Given the description of an element on the screen output the (x, y) to click on. 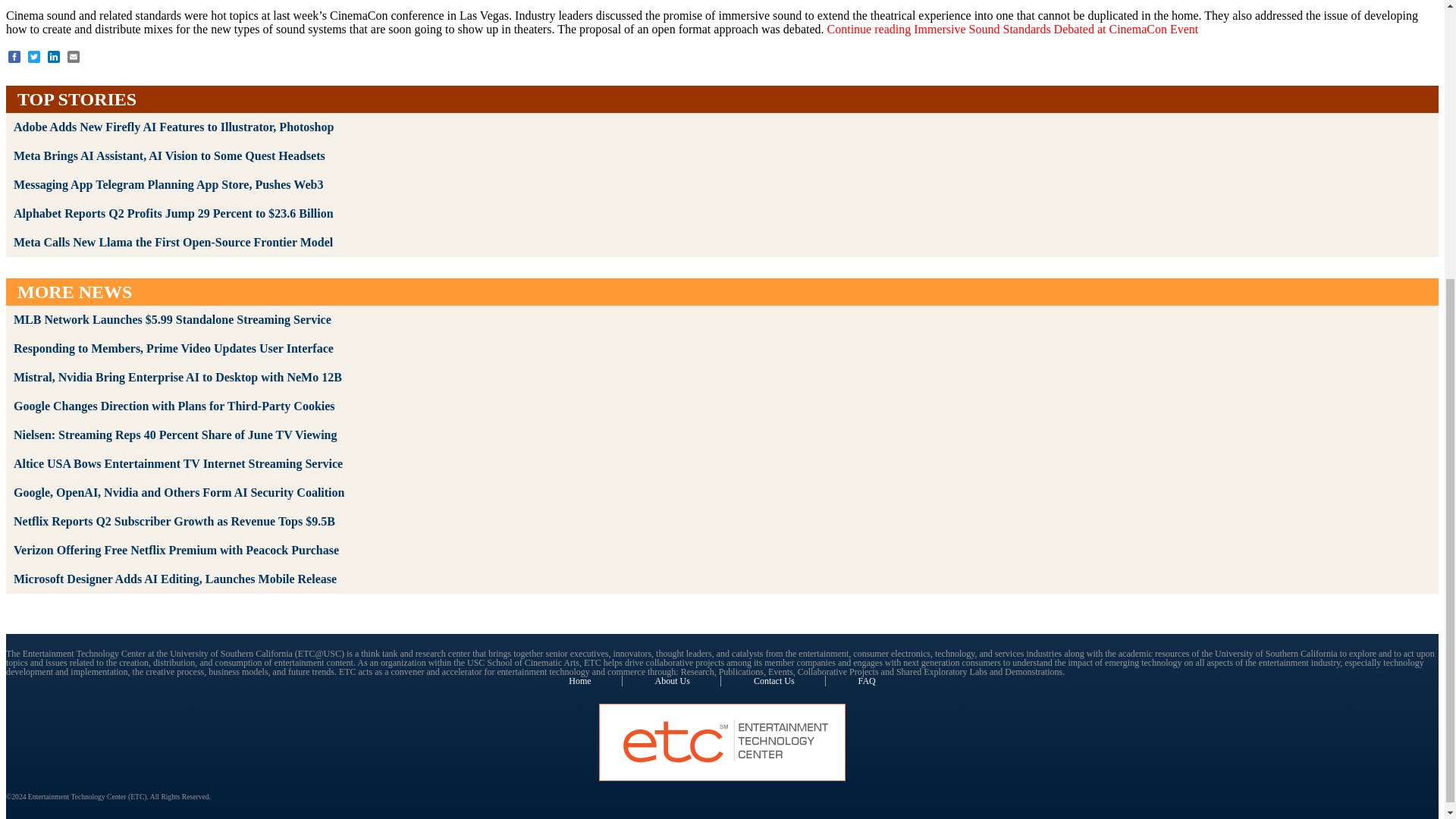
Microsoft Designer Adds AI Editing, Launches Mobile Release (174, 578)
Home (595, 680)
Altice USA Bows Entertainment TV Internet Streaming Service (177, 463)
Contact Us (789, 680)
Adobe Adds New Firefly AI Features to Illustrator, Photoshop (173, 126)
FAQ (867, 680)
Messaging App Telegram Planning App Store, Pushes Web3 (168, 184)
About Us (687, 680)
Google Changes Direction with Plans for Third-Party Cookies (173, 405)
